Given the description of an element on the screen output the (x, y) to click on. 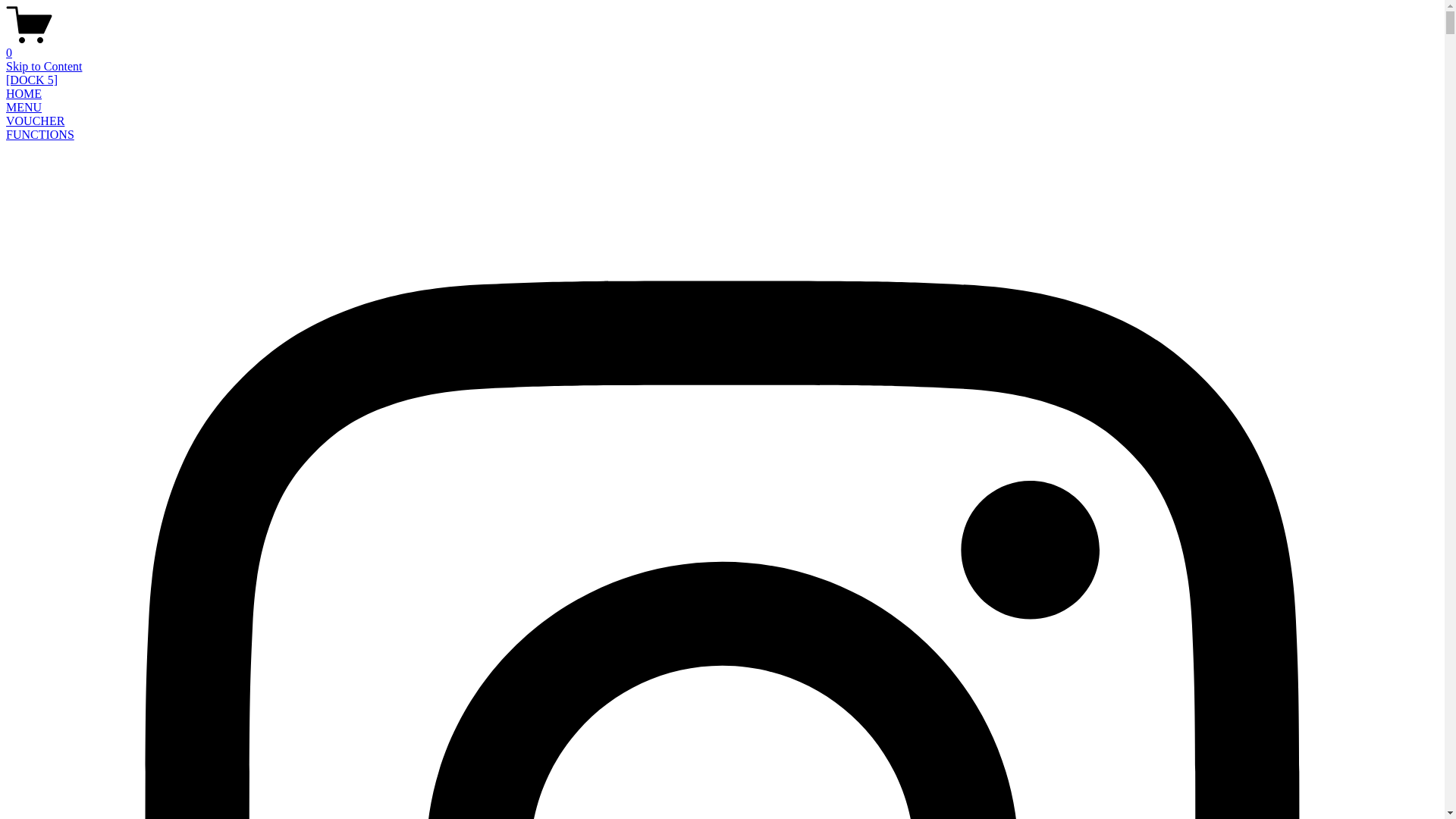
FUNCTIONS Element type: text (40, 134)
VOUCHER Element type: text (35, 120)
[DOCK 5] Element type: text (31, 79)
HOME Element type: text (23, 93)
Skip to Content Element type: text (43, 65)
MENU Element type: text (23, 106)
0 Element type: text (722, 45)
